Given the description of an element on the screen output the (x, y) to click on. 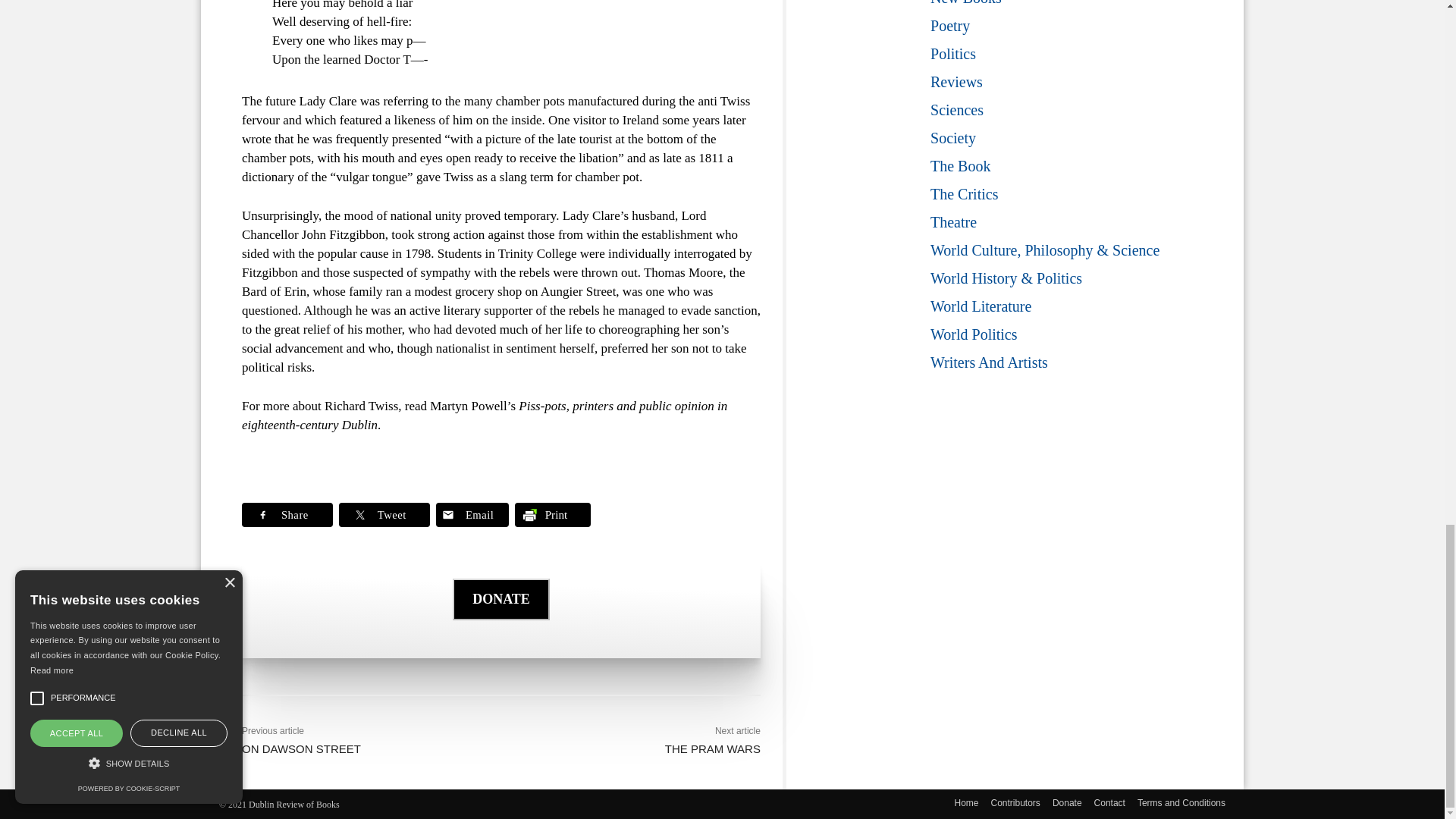
DONATE (501, 598)
DONATE (501, 614)
ON DAWSON STREET (301, 748)
THE PRAM WARS (712, 748)
